Given the description of an element on the screen output the (x, y) to click on. 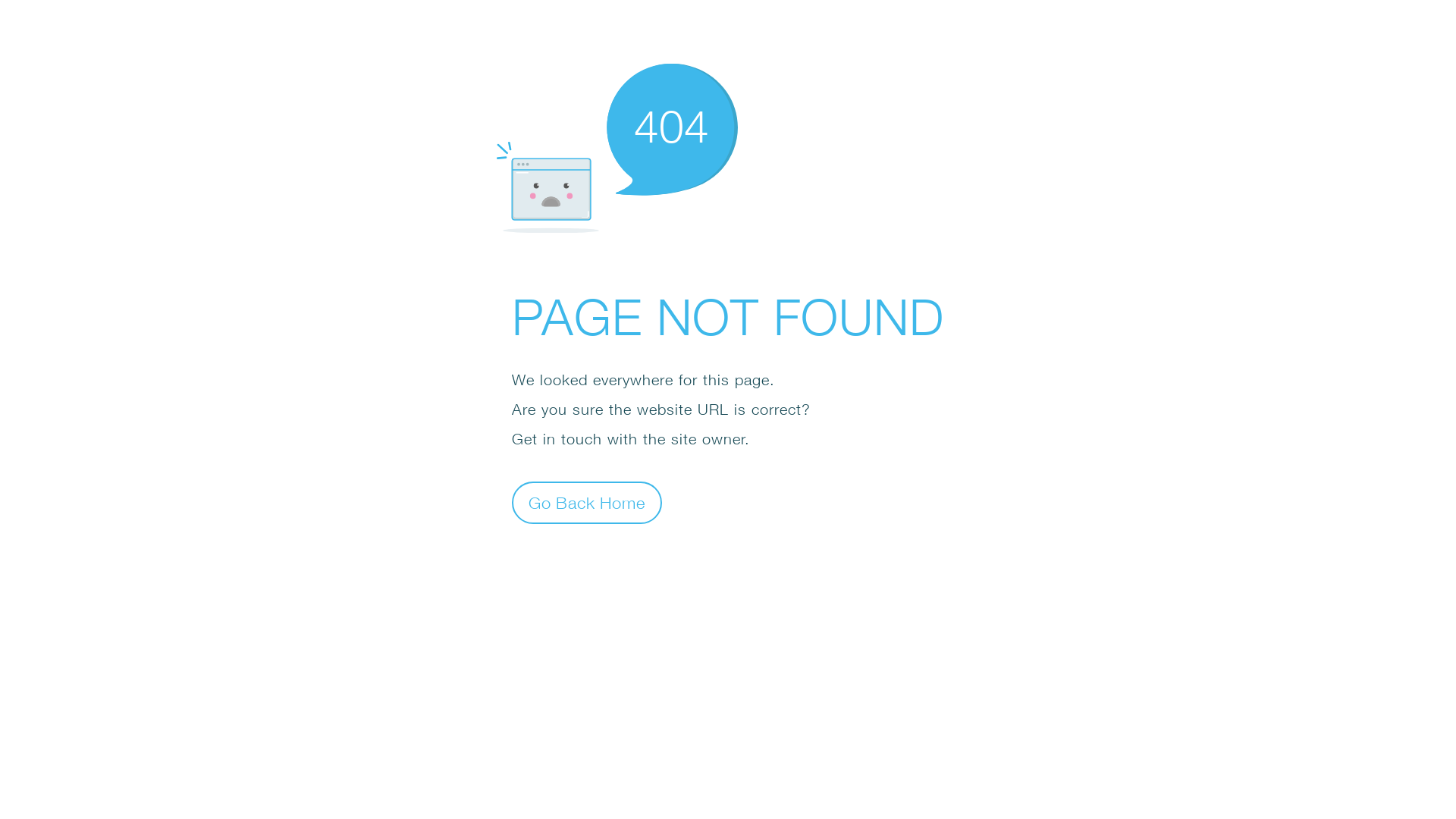
Go Back Home Element type: text (586, 502)
